Given the description of an element on the screen output the (x, y) to click on. 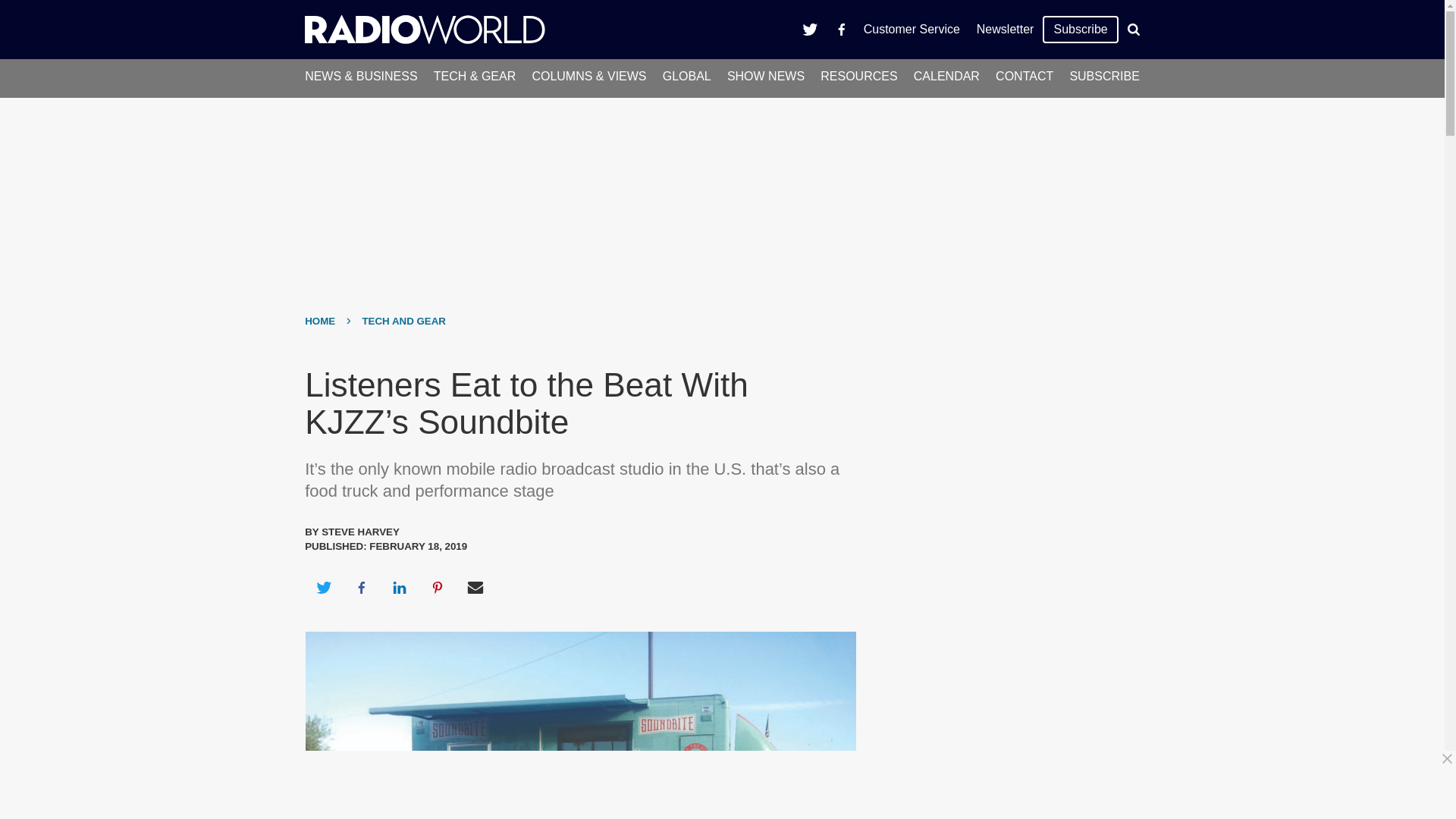
Share on LinkedIn (399, 587)
Share on Facebook (361, 587)
Share via Email (476, 587)
Share on Pinterest (438, 587)
Newsletter (1005, 29)
Customer Service (912, 29)
Advertisement (1005, 667)
Advertisement (727, 785)
Share on Twitter (323, 587)
